Given the description of an element on the screen output the (x, y) to click on. 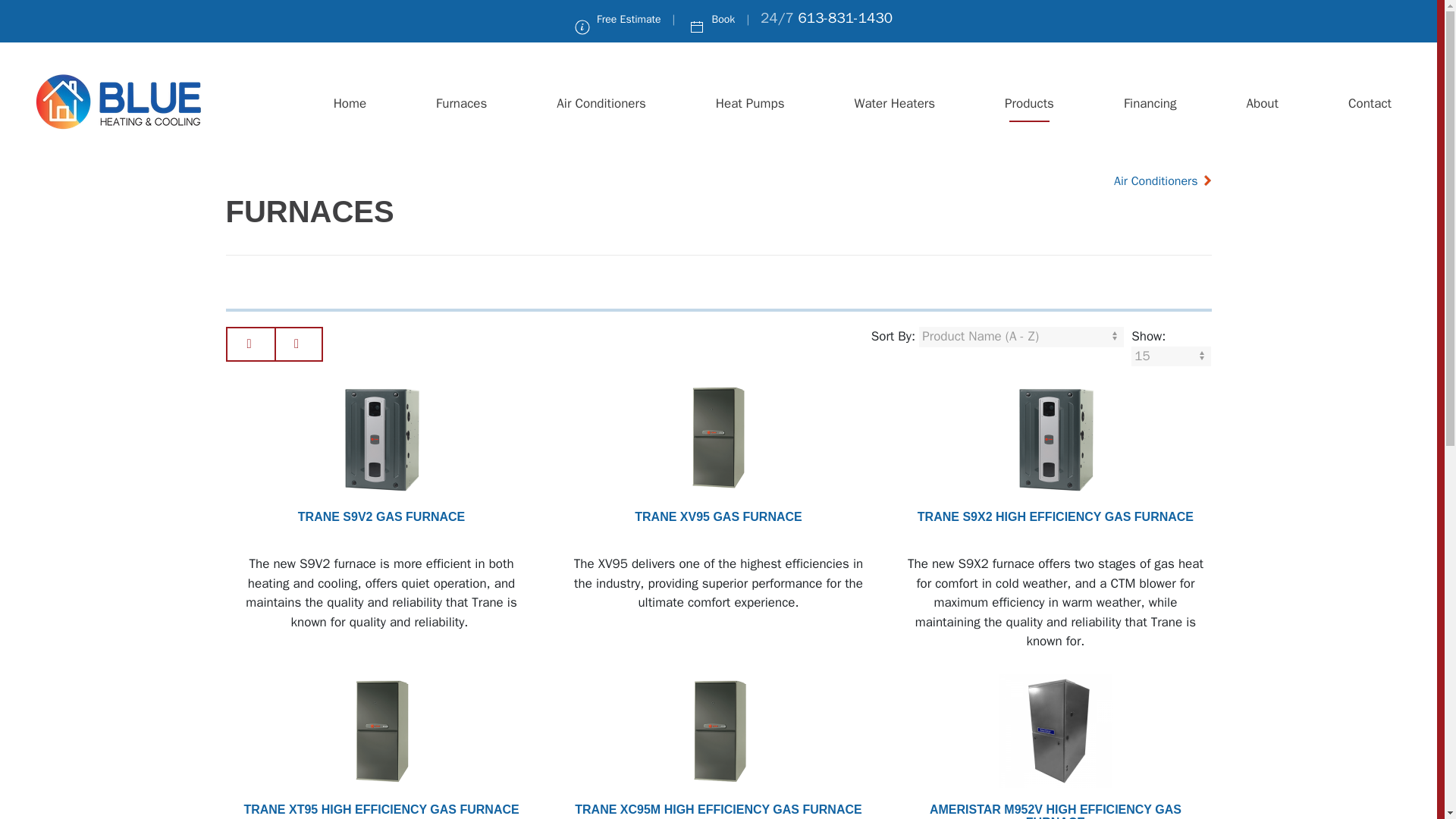
Trane XC95m High Efficiency Gas Furnace (717, 683)
Trane XV95 Gas Furnace (717, 438)
Trane XV95 Gas Furnace (717, 390)
Home (349, 102)
Trane S9V2 Gas Furnace (381, 516)
Free Estimate (618, 19)
Trane S9X2 High Efficiency Gas Furnace (1055, 438)
Trane S9V2 Gas Furnace (381, 390)
Book (711, 19)
Trane XC95m High Efficiency Gas Furnace (717, 730)
Trane S9X2 High Efficiency Gas Furnace (1055, 516)
Trane XV95 Gas Furnace (718, 516)
Trane XT95 High Efficiency Gas Furnace (380, 809)
Trane XT95 High Efficiency Gas Furnace (381, 730)
Trane S9X2 High Efficiency Gas Furnace (1055, 390)
